Given the description of an element on the screen output the (x, y) to click on. 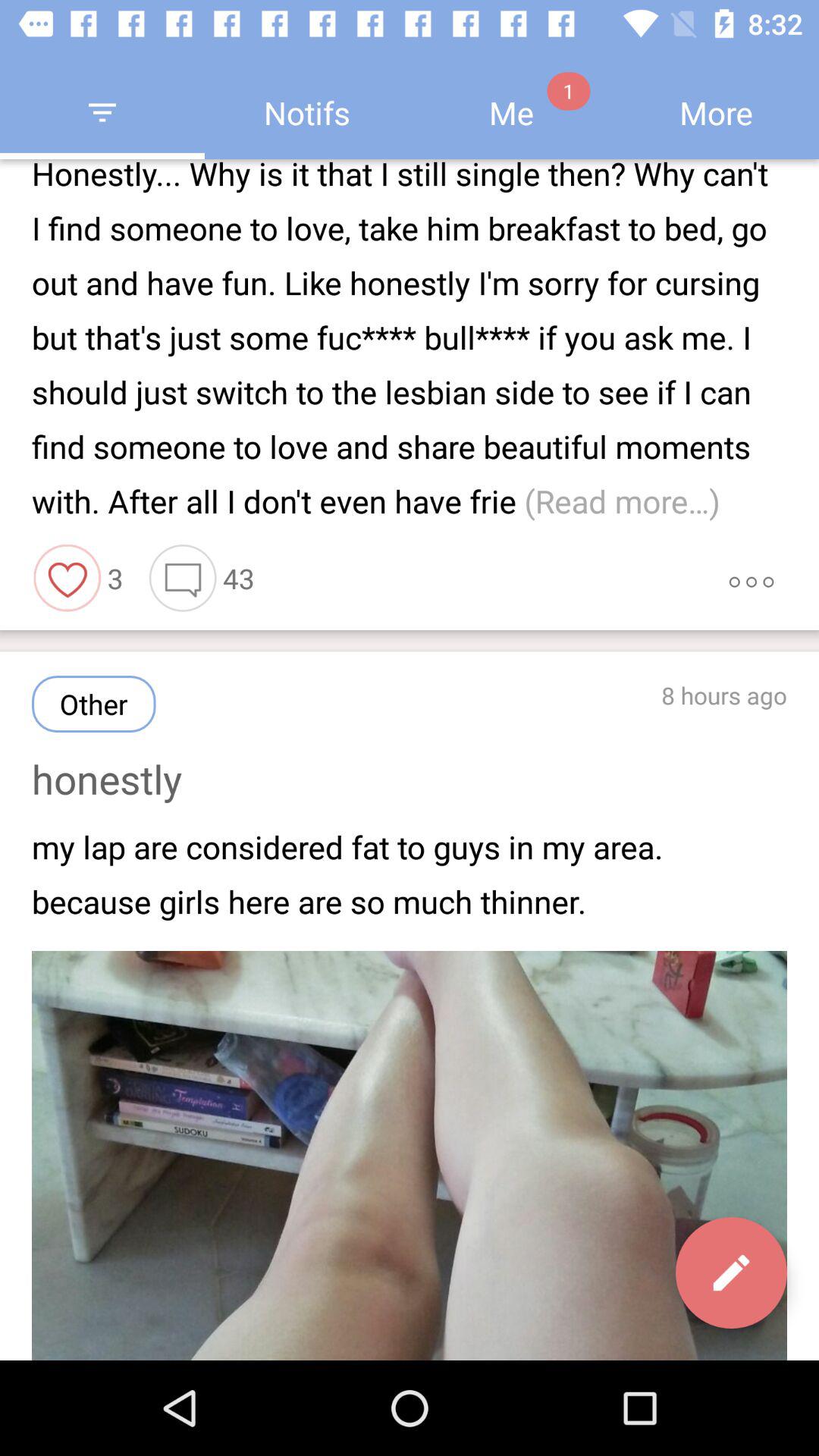
launch icon above other icon (67, 578)
